Given the description of an element on the screen output the (x, y) to click on. 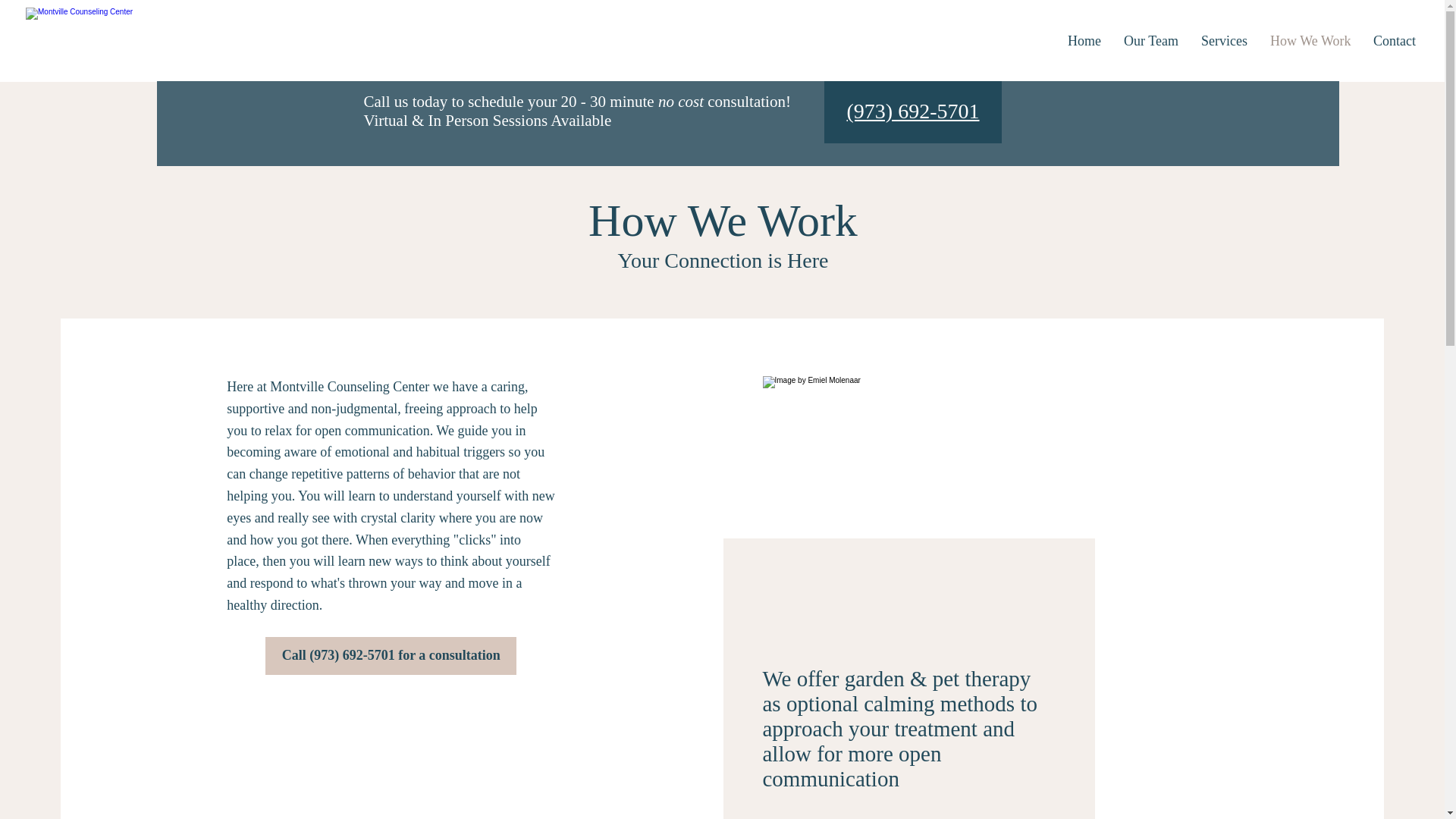
Services (1224, 40)
How We Work (1310, 40)
Our Team (1150, 40)
Home (1084, 40)
Contact (1393, 40)
